Given the description of an element on the screen output the (x, y) to click on. 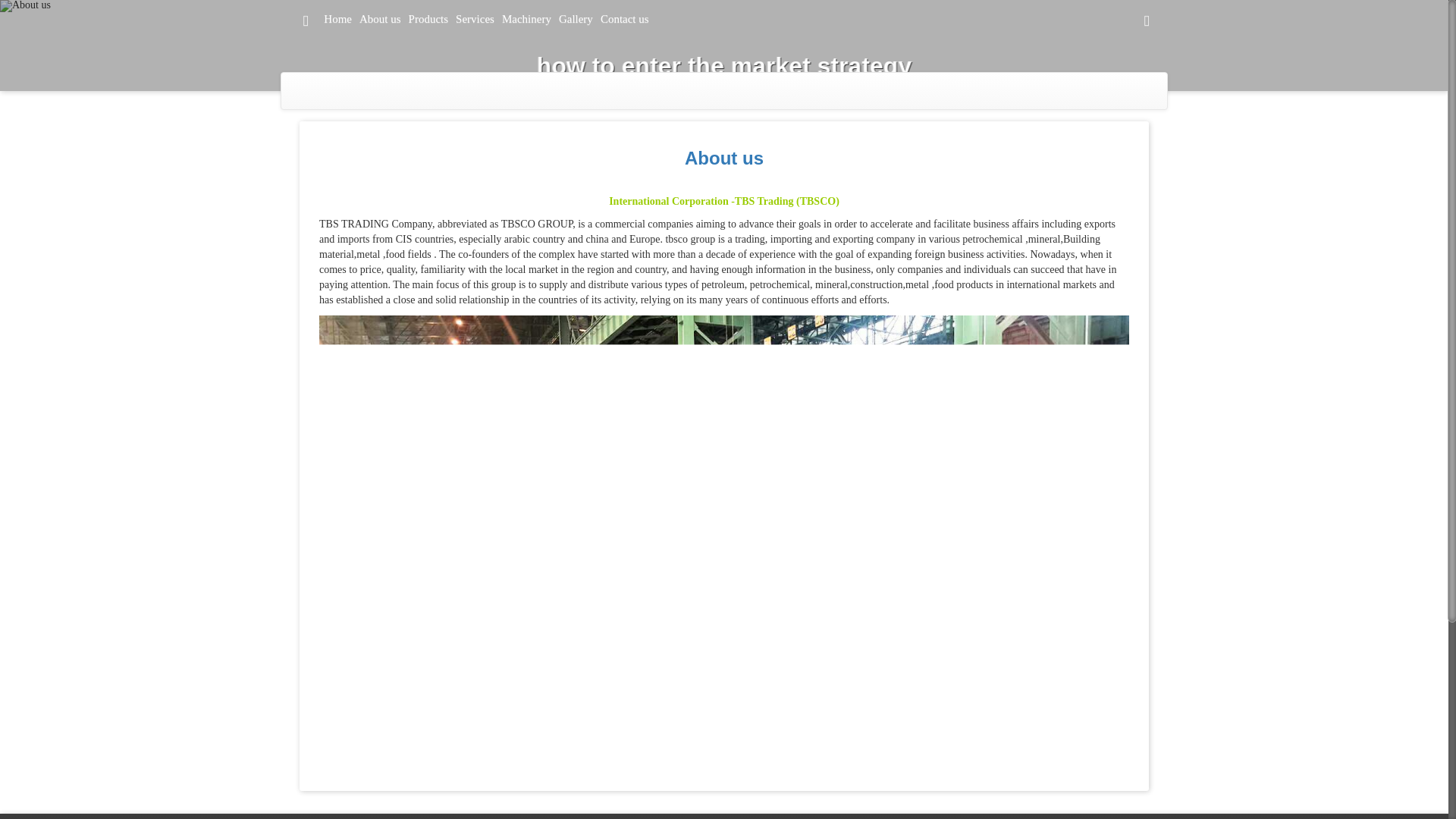
About us (379, 18)
Home (337, 18)
Products (428, 18)
Machinery (525, 18)
Contact us (624, 18)
About us (723, 158)
About us (723, 158)
Gallery (575, 18)
Services (474, 18)
